Given the description of an element on the screen output the (x, y) to click on. 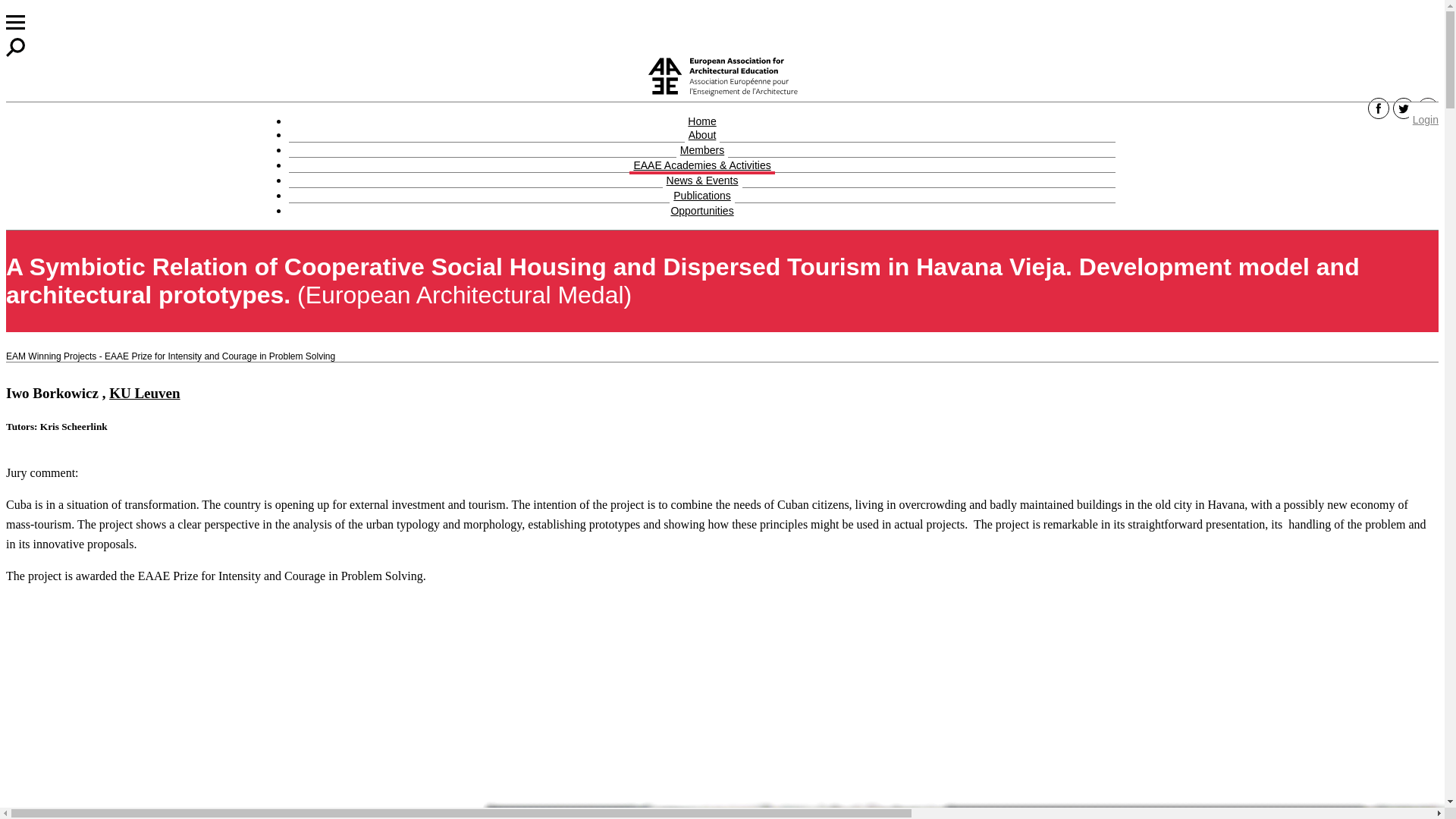
About (702, 136)
Members (702, 151)
European Association for Architectural Education (721, 75)
Opportunities (701, 212)
Home (701, 122)
Publications (702, 196)
